Given the description of an element on the screen output the (x, y) to click on. 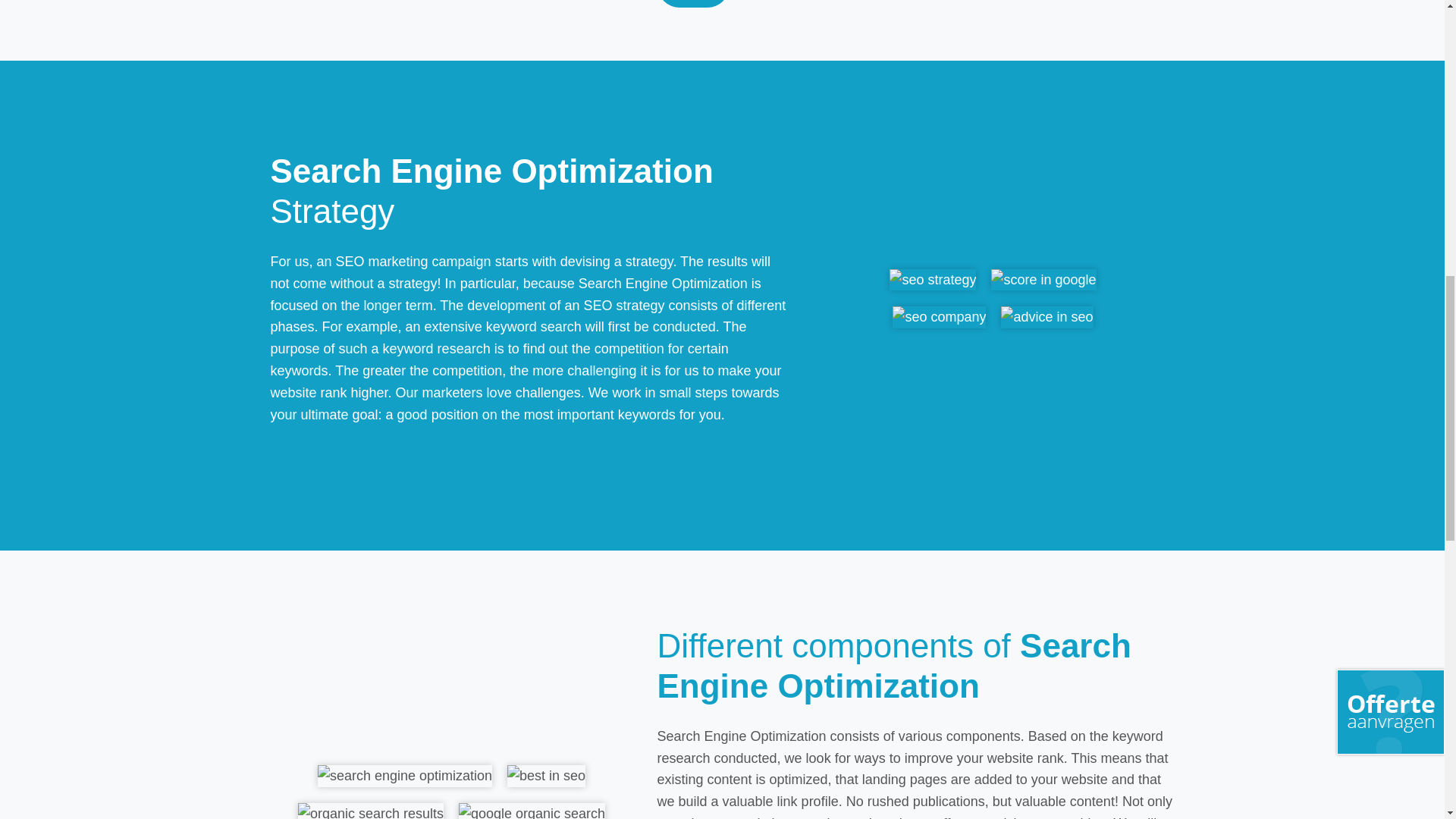
Call us (692, 3)
